Given the description of an element on the screen output the (x, y) to click on. 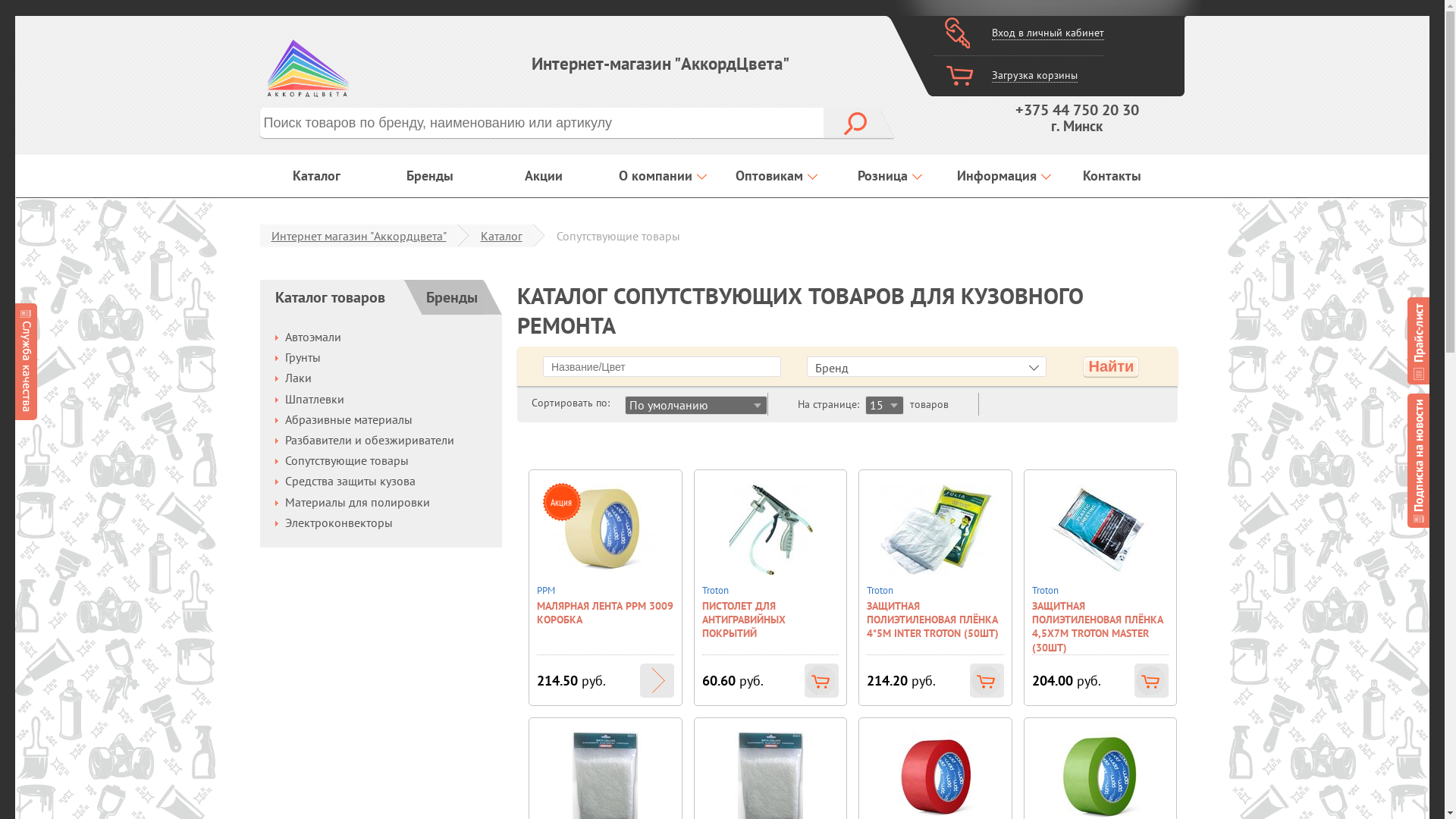
# Element type: hover (1418, 340)
# Element type: hover (1418, 459)
